Given the description of an element on the screen output the (x, y) to click on. 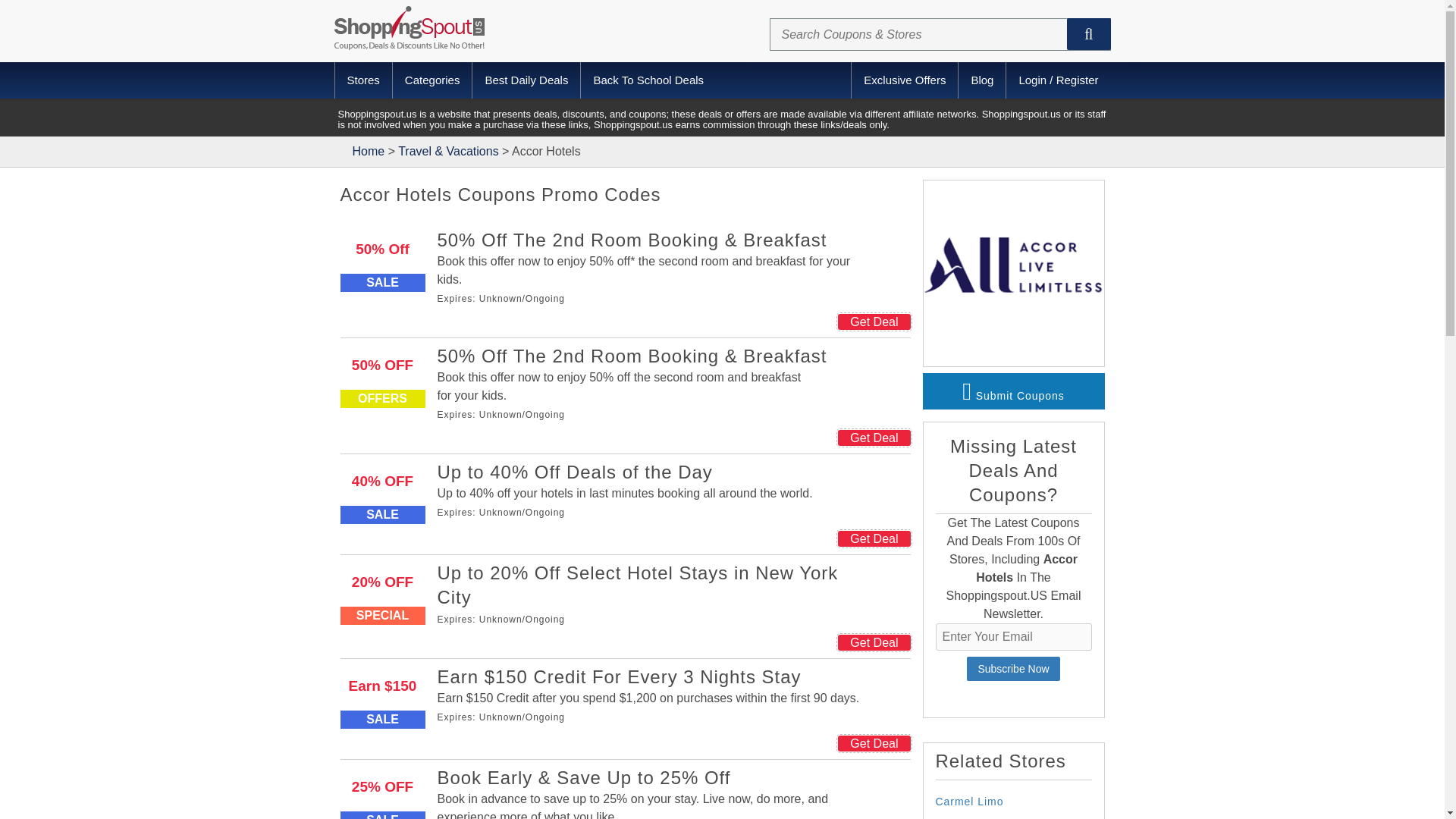
Carmel Limo (970, 801)
Back To School Deals (647, 80)
Blog (981, 79)
Accor Hotels (1013, 270)
Categories (432, 80)
Exclusive Offers (903, 79)
ShoppingSpout US (408, 27)
Submit Coupons (1012, 391)
Accor Hotels (1013, 356)
ShoppingSpout US (369, 151)
Best Daily Deals (525, 80)
Subscribe Now (1012, 668)
Stores (363, 80)
Home (369, 151)
